Given the description of an element on the screen output the (x, y) to click on. 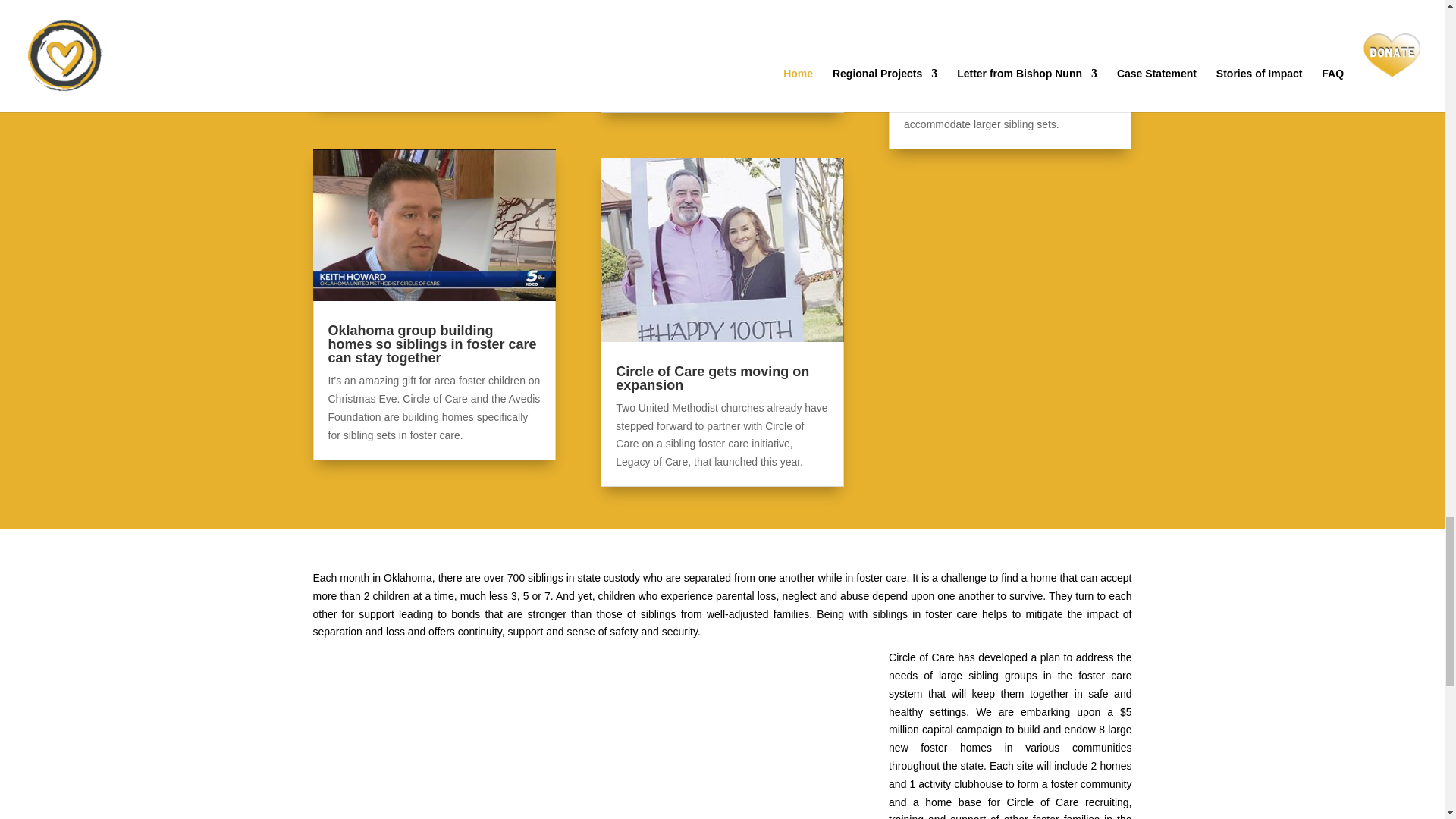
Circle of Care gets moving on expansion (712, 378)
